Given the description of an element on the screen output the (x, y) to click on. 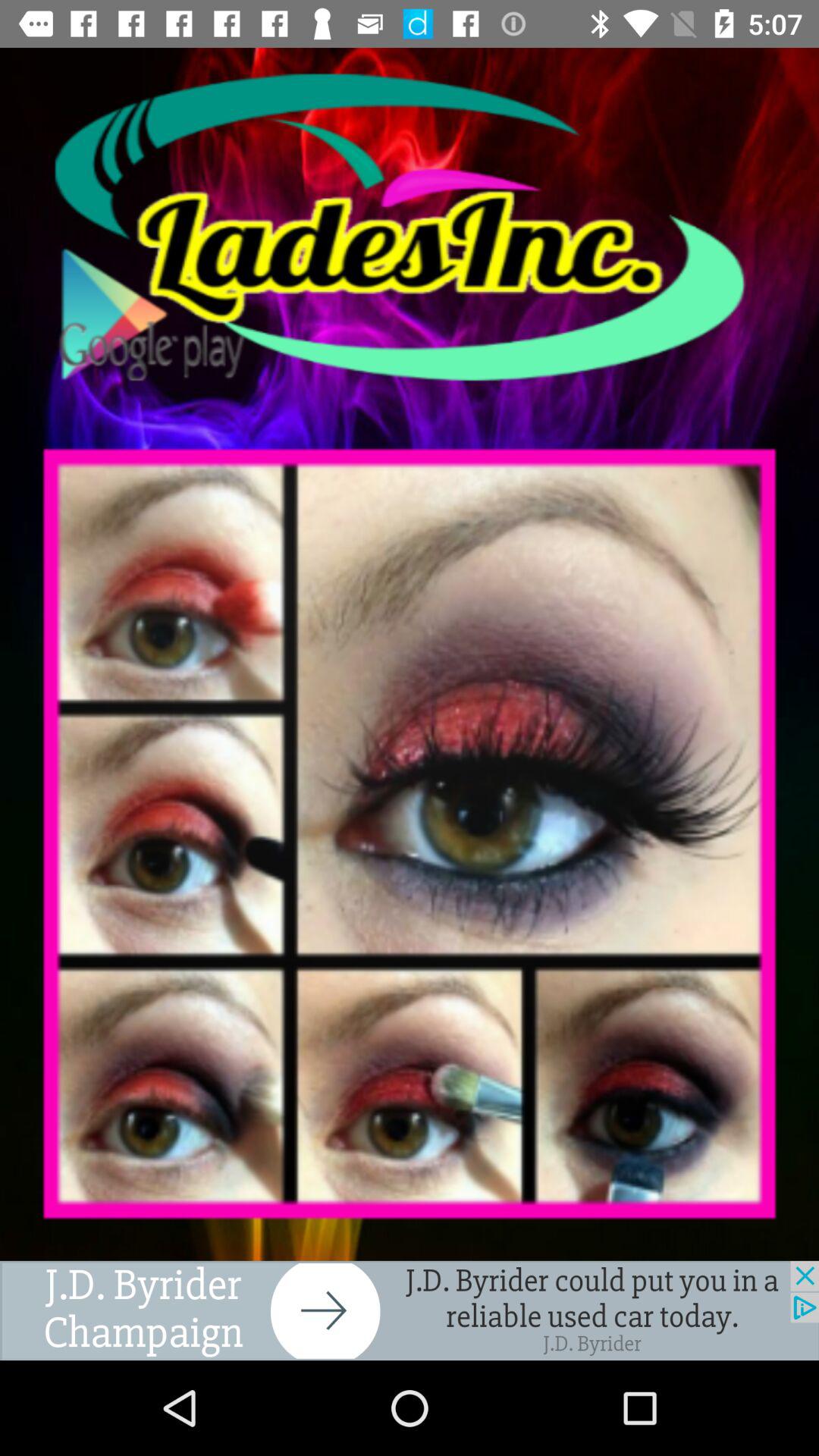
advertisement (409, 1310)
